Given the description of an element on the screen output the (x, y) to click on. 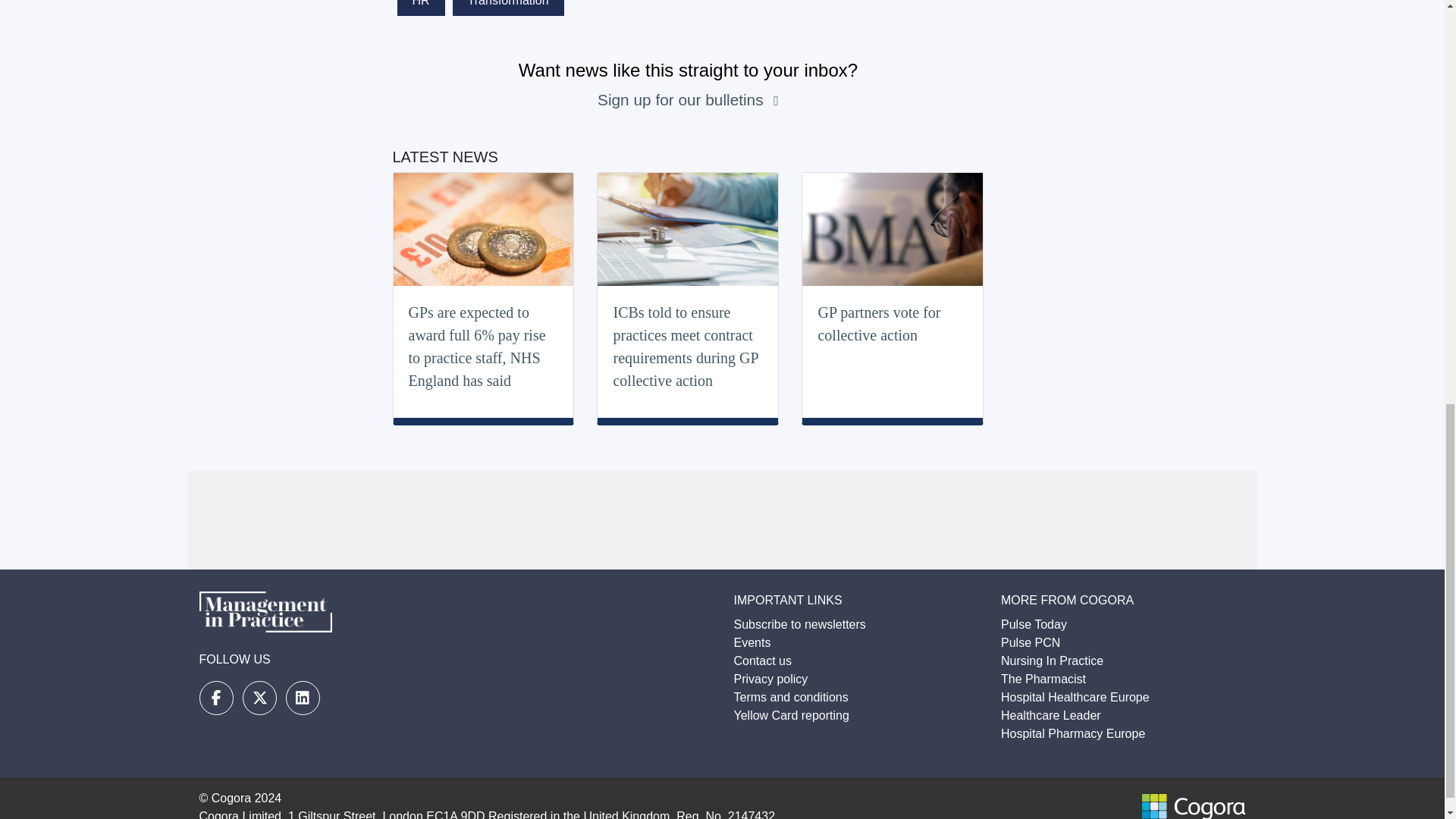
Contact us (762, 660)
Pulse PCN (1030, 642)
Events (752, 642)
Privacy policy (770, 678)
The Pharmacist (1043, 678)
Hospital Healthcare Europe (1075, 697)
Subscribe to newsletters (799, 624)
Terms and conditions (790, 697)
Healthcare Leader (1050, 715)
Hospital Pharmacy Europe (1072, 733)
Nursing In Practice (1052, 660)
Sign up for our bulletins (681, 99)
Yellow Card reporting (790, 715)
Pulse Today (1034, 624)
